Given the description of an element on the screen output the (x, y) to click on. 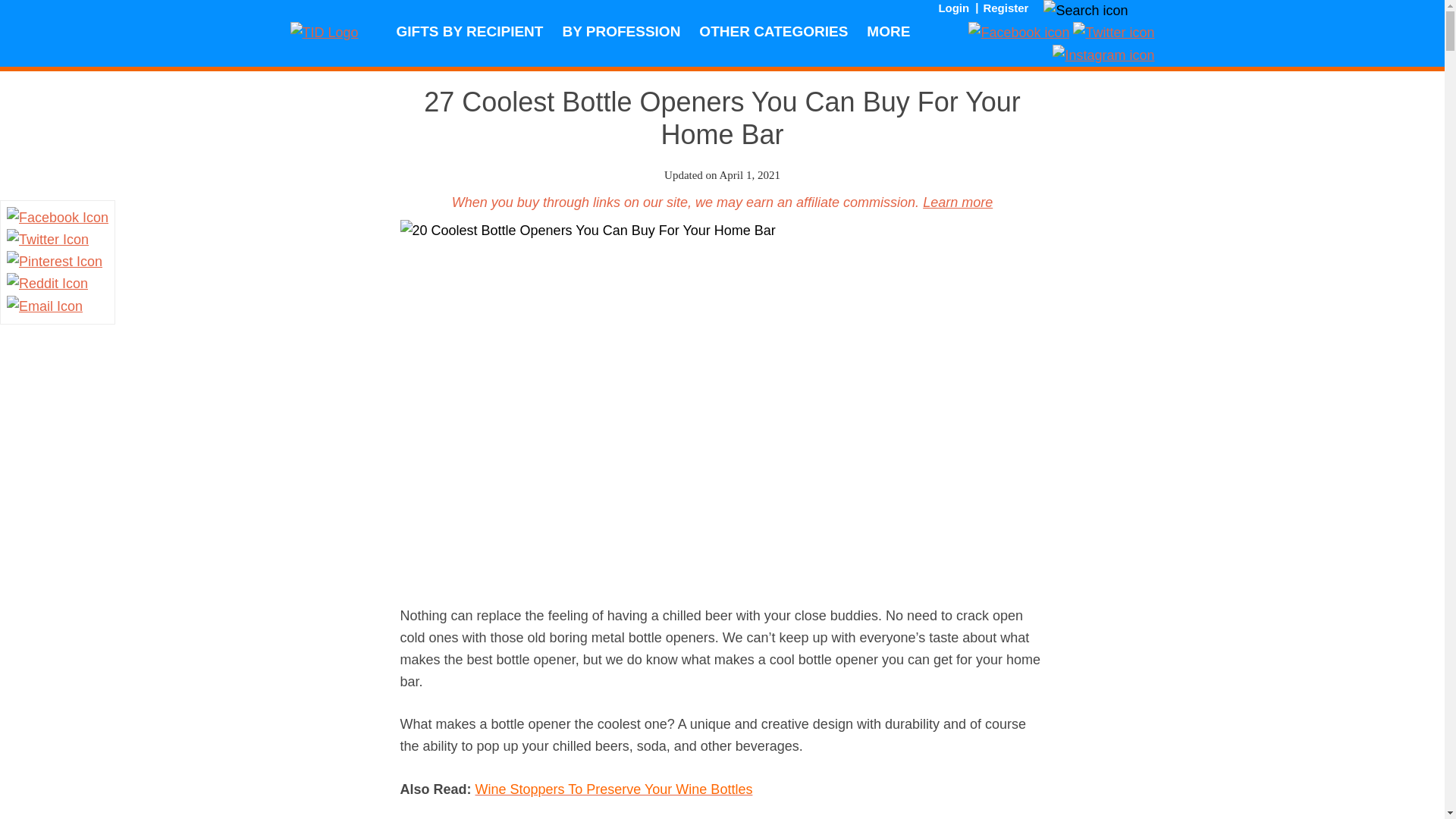
OTHER CATEGORIES (772, 32)
BY PROFESSION (620, 32)
GIFTS BY RECIPIENT (469, 32)
